Given the description of an element on the screen output the (x, y) to click on. 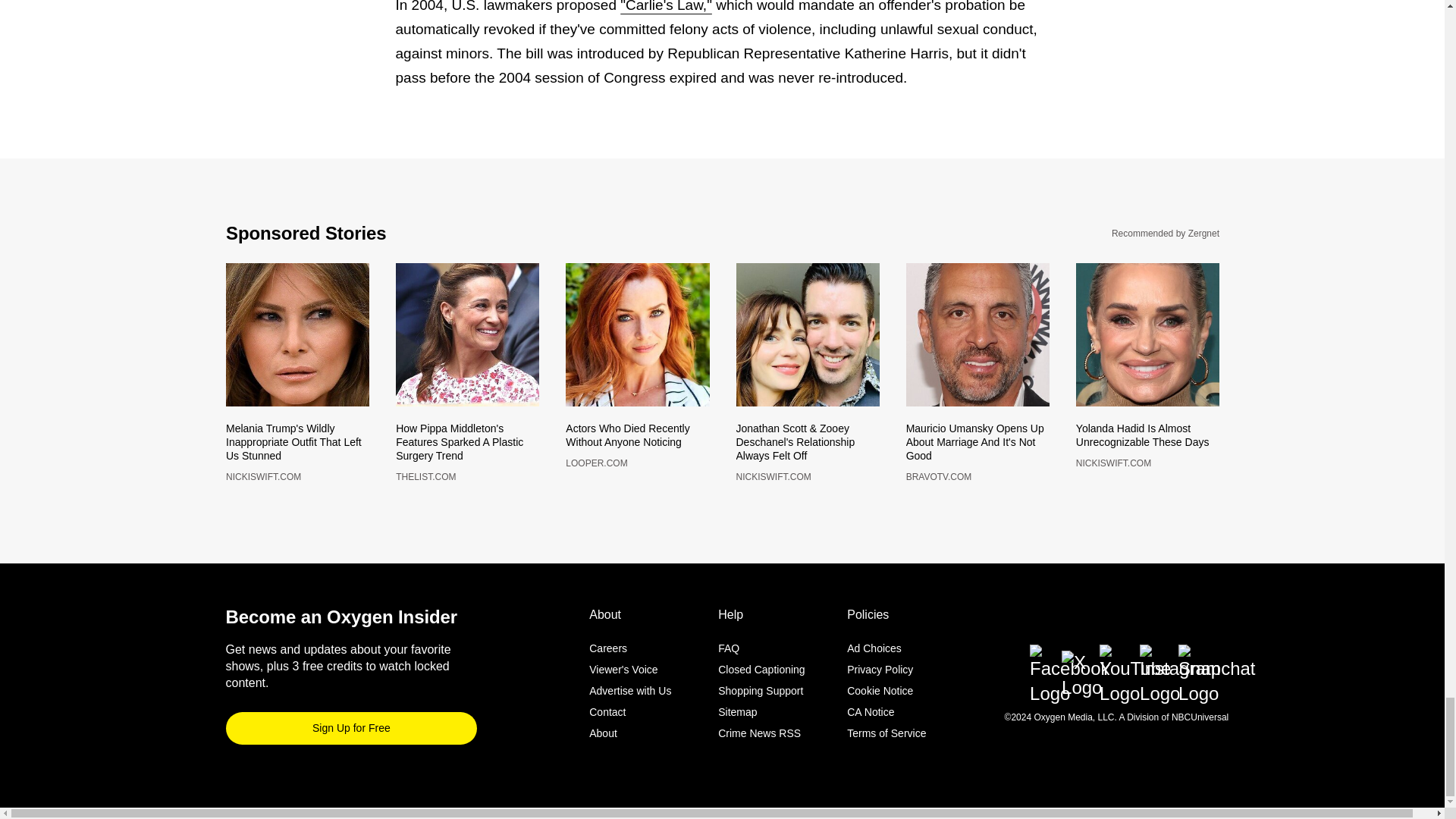
"Carlie's Law," (665, 6)
Advertise with Us (630, 684)
